Given the description of an element on the screen output the (x, y) to click on. 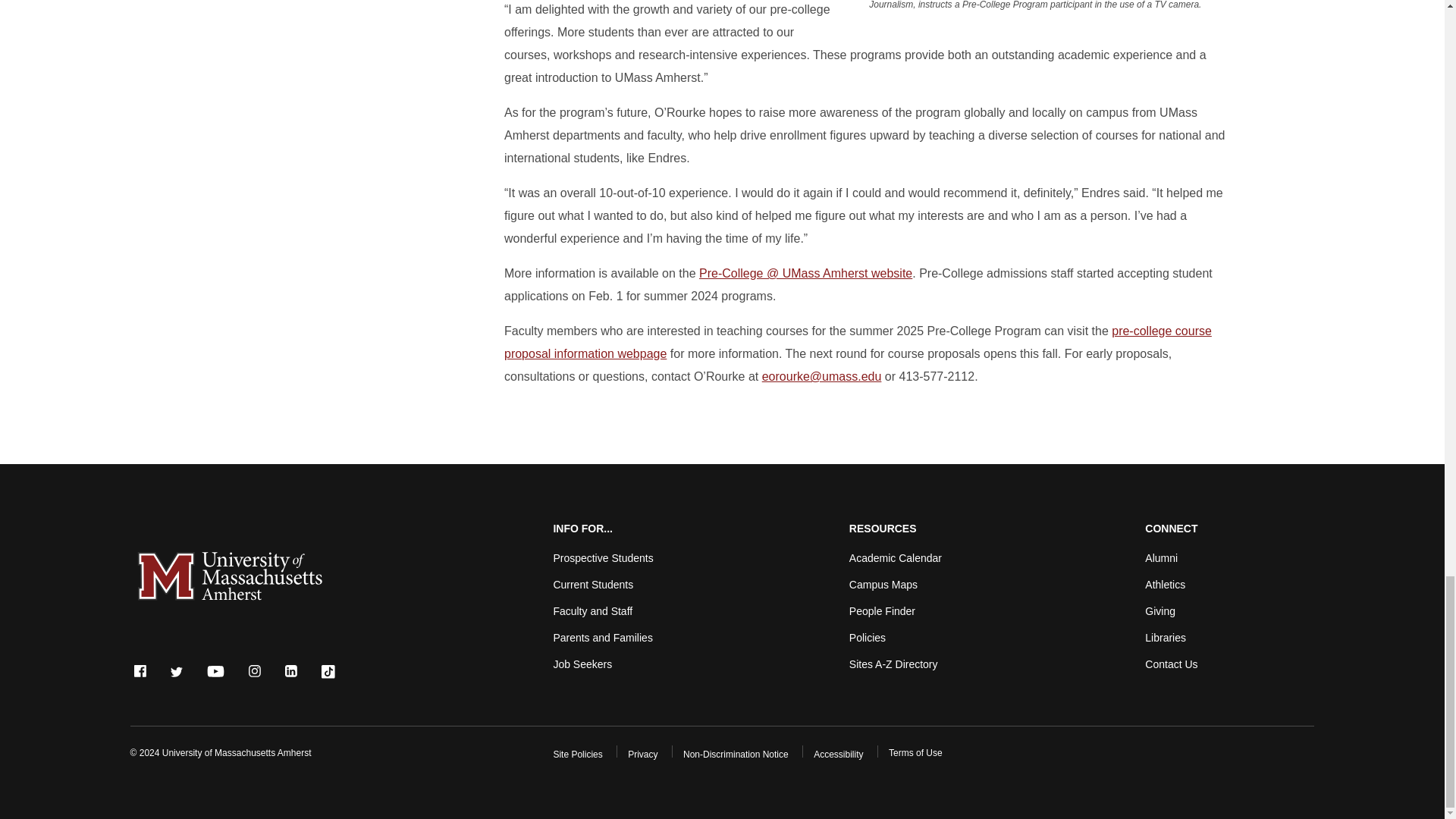
Info for Job Seekers (582, 664)
Click here for info for faculty and staff (592, 611)
Click here for info for parents and families (602, 637)
Click here for info for current students (593, 584)
A-Z Directory (892, 664)
UMass Amherst Accessibility Resources (838, 754)
UMass Amherst privacy policy (642, 754)
UMass Amherst non-discrimination policies (735, 754)
